Given the description of an element on the screen output the (x, y) to click on. 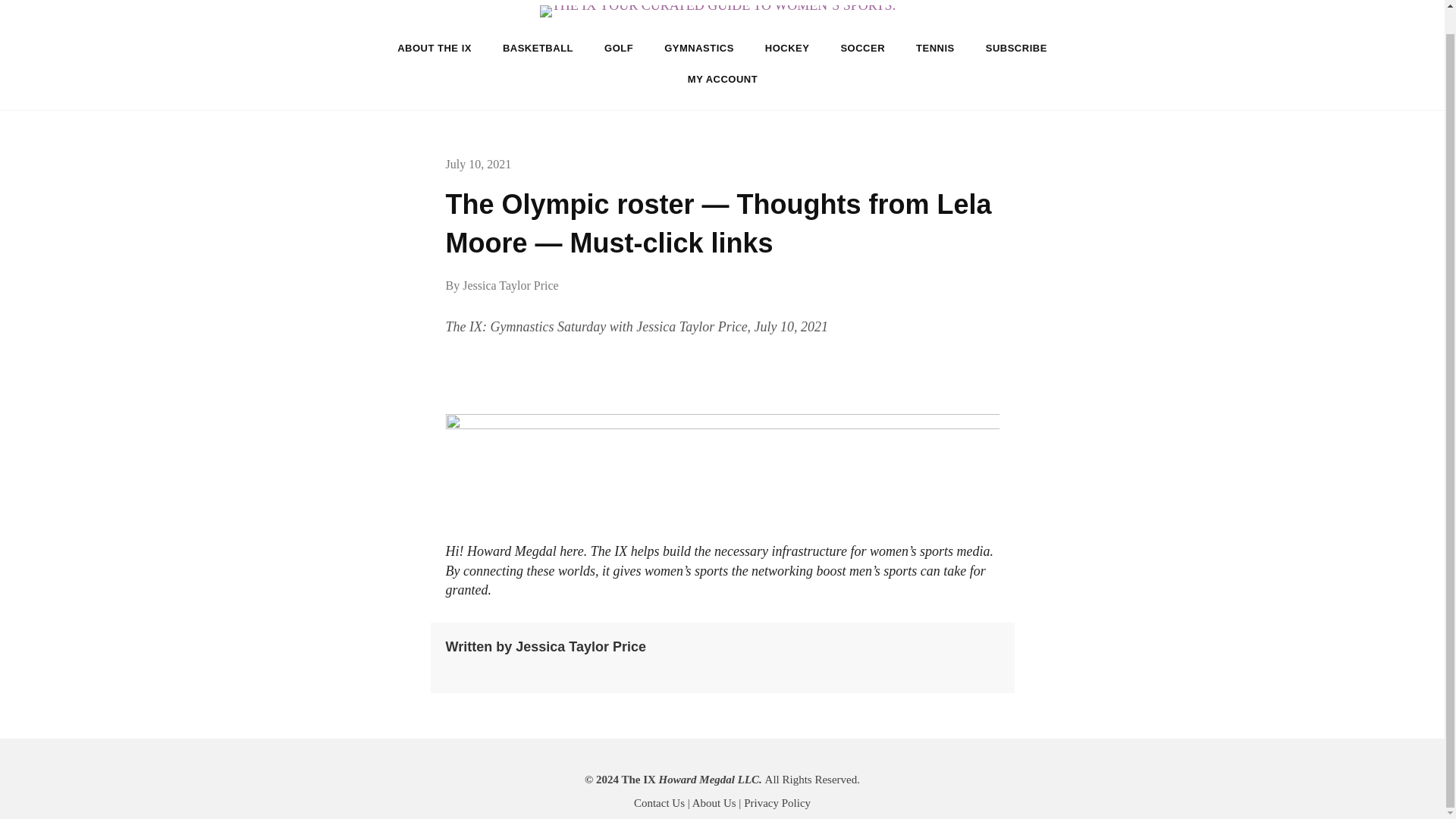
GYMNASTICS (699, 47)
GOLF (618, 47)
SOCCER (862, 47)
Jessica Taylor Price (511, 285)
MY ACCOUNT (722, 79)
SUBSCRIBE (1016, 47)
HOCKEY (787, 47)
ABOUT THE IX (433, 47)
TENNIS (935, 47)
BASKETBALL (537, 47)
